Given the description of an element on the screen output the (x, y) to click on. 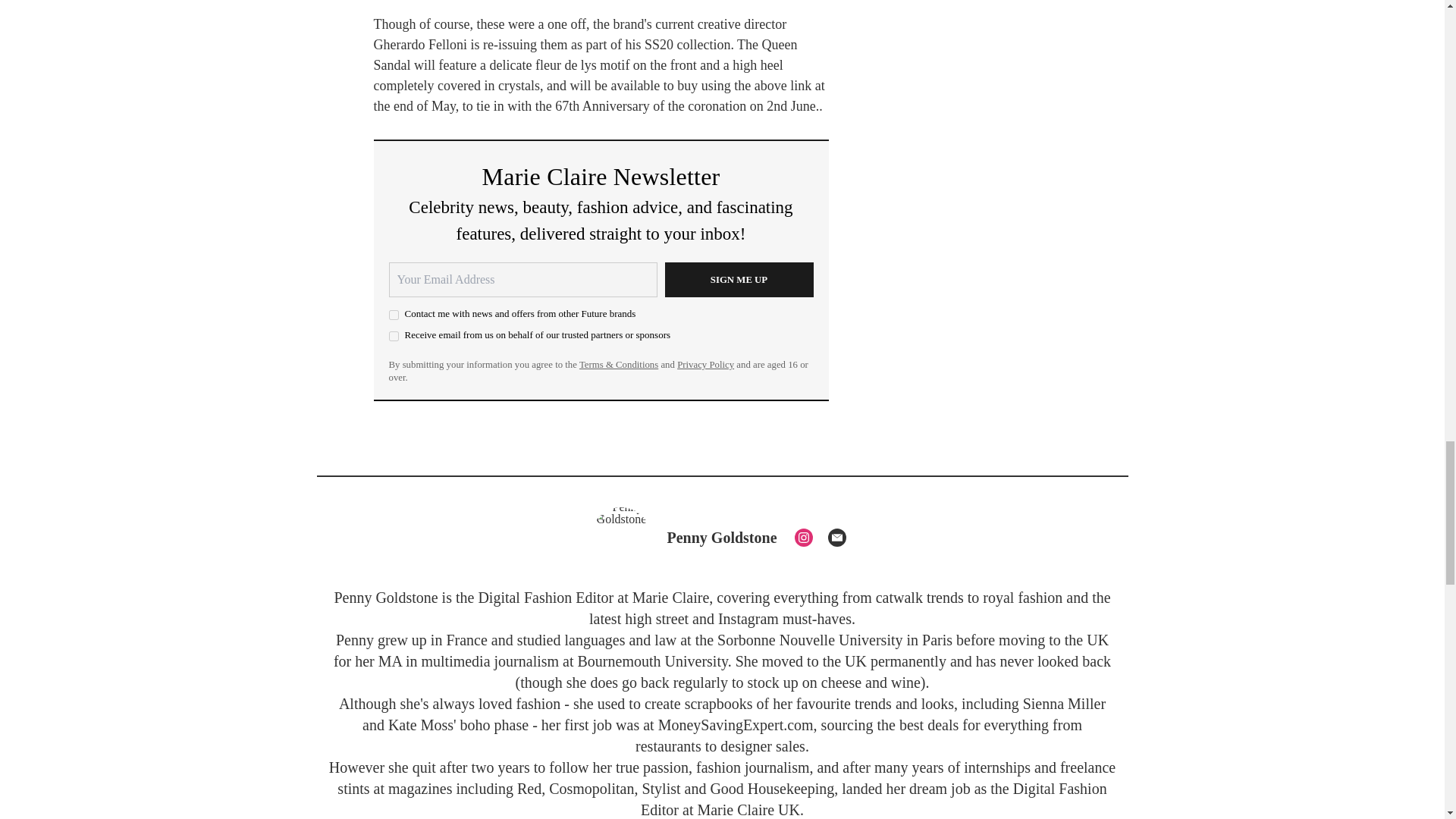
on (392, 315)
Sign me up (737, 279)
on (392, 336)
